Given the description of an element on the screen output the (x, y) to click on. 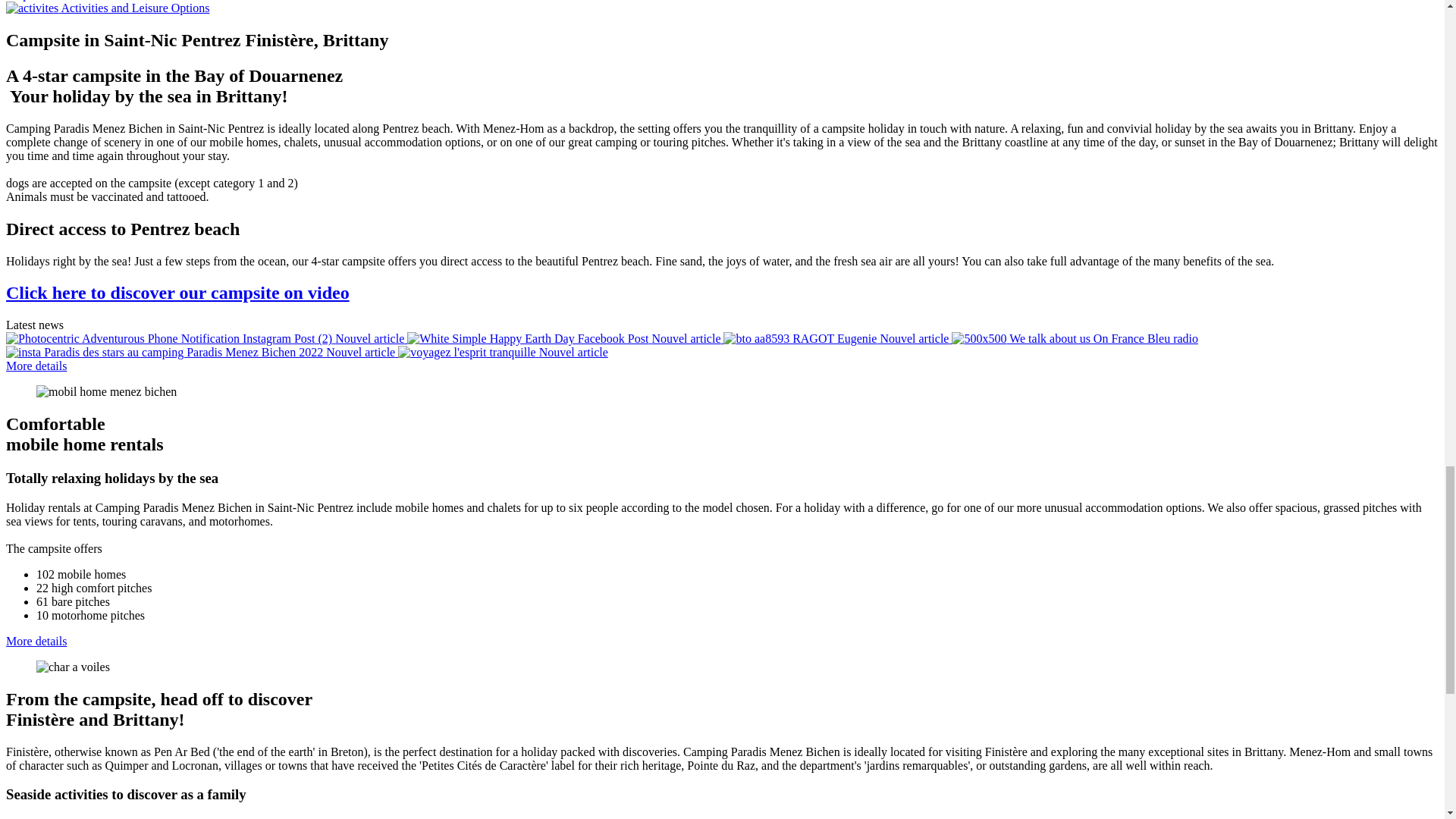
More details (35, 640)
Nouvel article (502, 351)
Nouvel article (565, 338)
Nouvel article (837, 338)
Click here to discover our campsite on video (177, 292)
Nouvel article (201, 351)
More details (35, 365)
Activities and Leisure Options (107, 7)
We talk about us On France Bleu radio (1075, 338)
Nouvel article (206, 338)
